Given the description of an element on the screen output the (x, y) to click on. 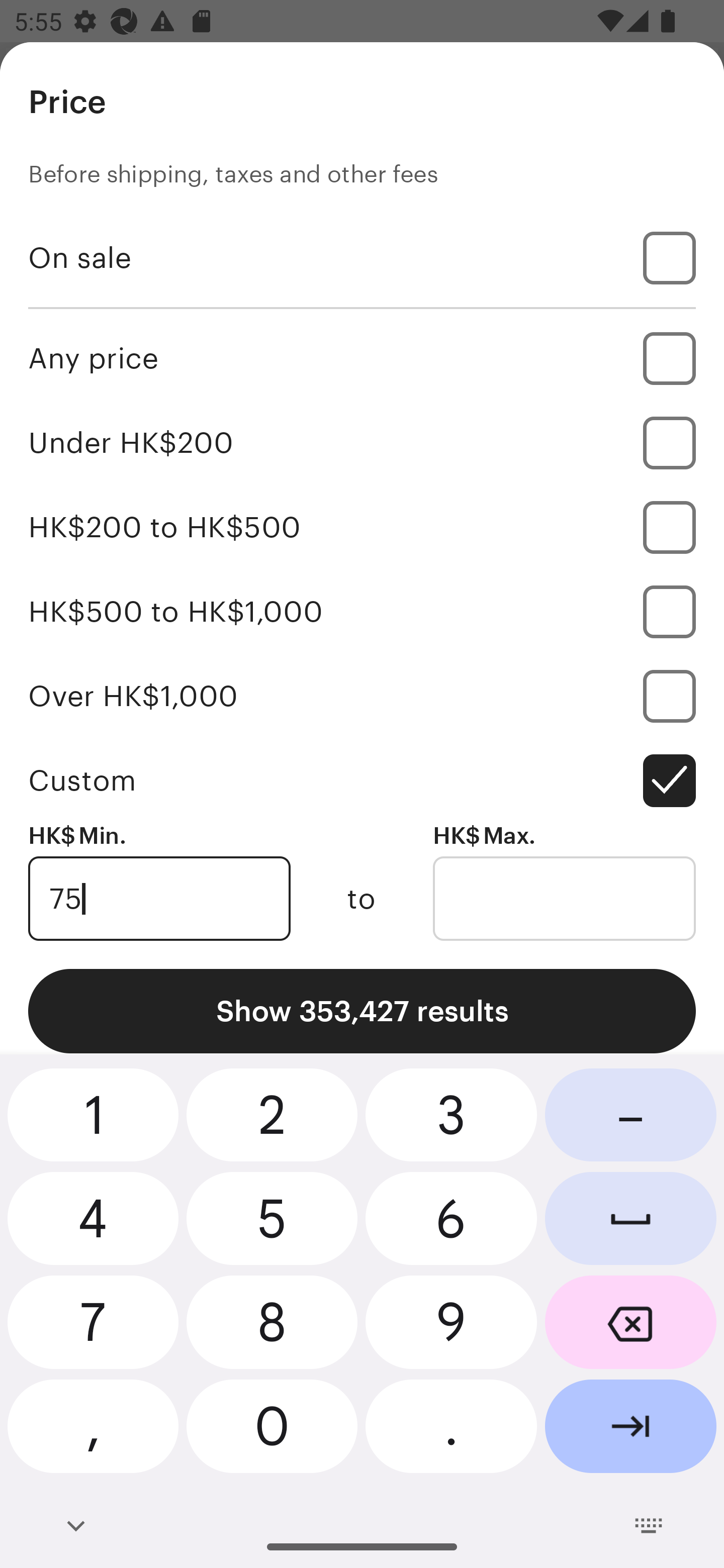
On sale (362, 257)
Any price (362, 357)
Under HK$200 (362, 441)
HK$200 to HK$500 (362, 526)
HK$500 to HK$1,000 (362, 611)
Over HK$1,000 (362, 695)
Custom (362, 780)
75 (159, 898)
Show 353,427 results (361, 1011)
